Given the description of an element on the screen output the (x, y) to click on. 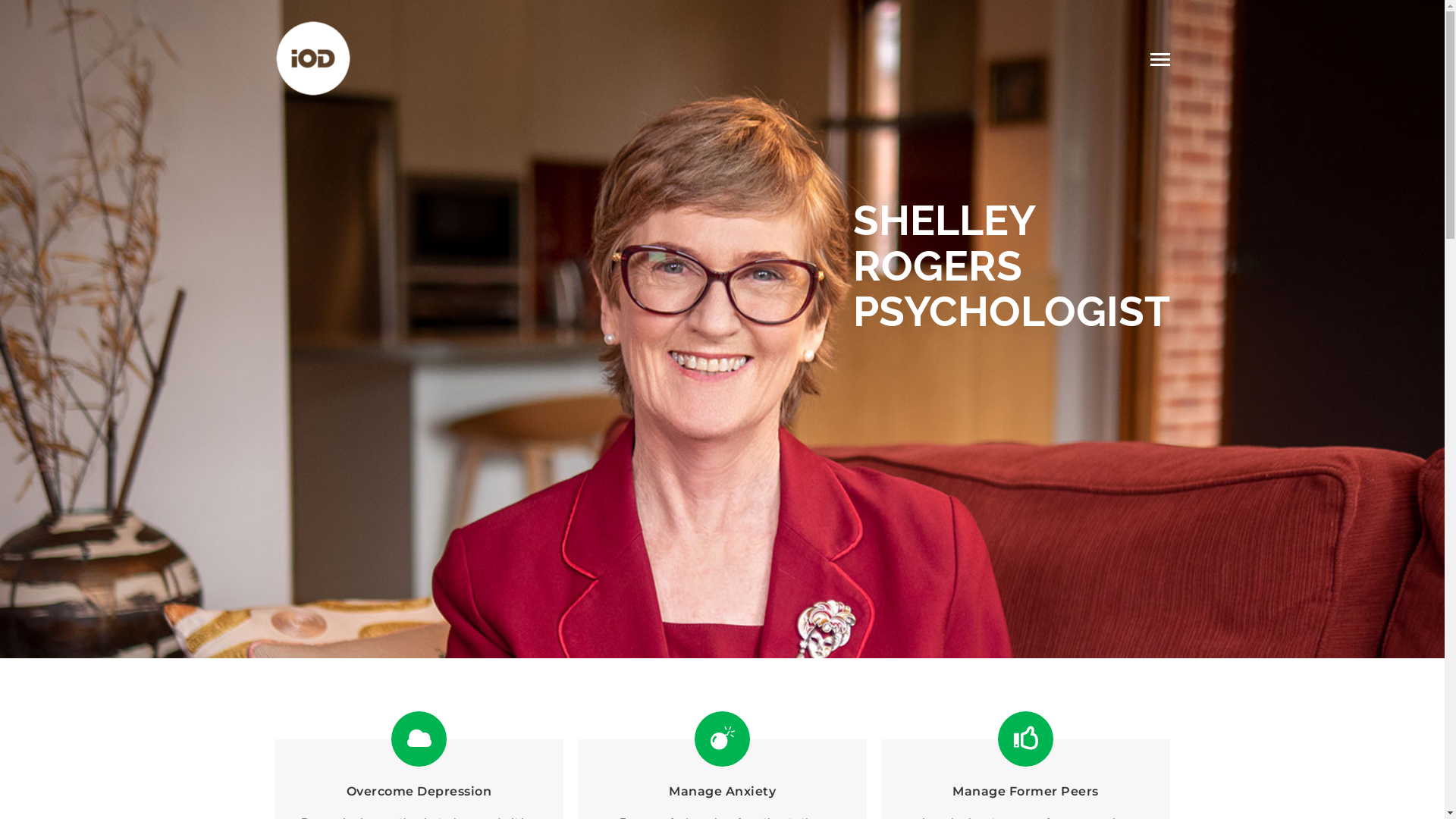
IOD | Individual & Organisational Development Element type: hover (312, 56)
Manage Former Peers Element type: text (1025, 791)
Overcome Depression Element type: text (419, 791)
Manage Anxiety Element type: text (721, 791)
